Given the description of an element on the screen output the (x, y) to click on. 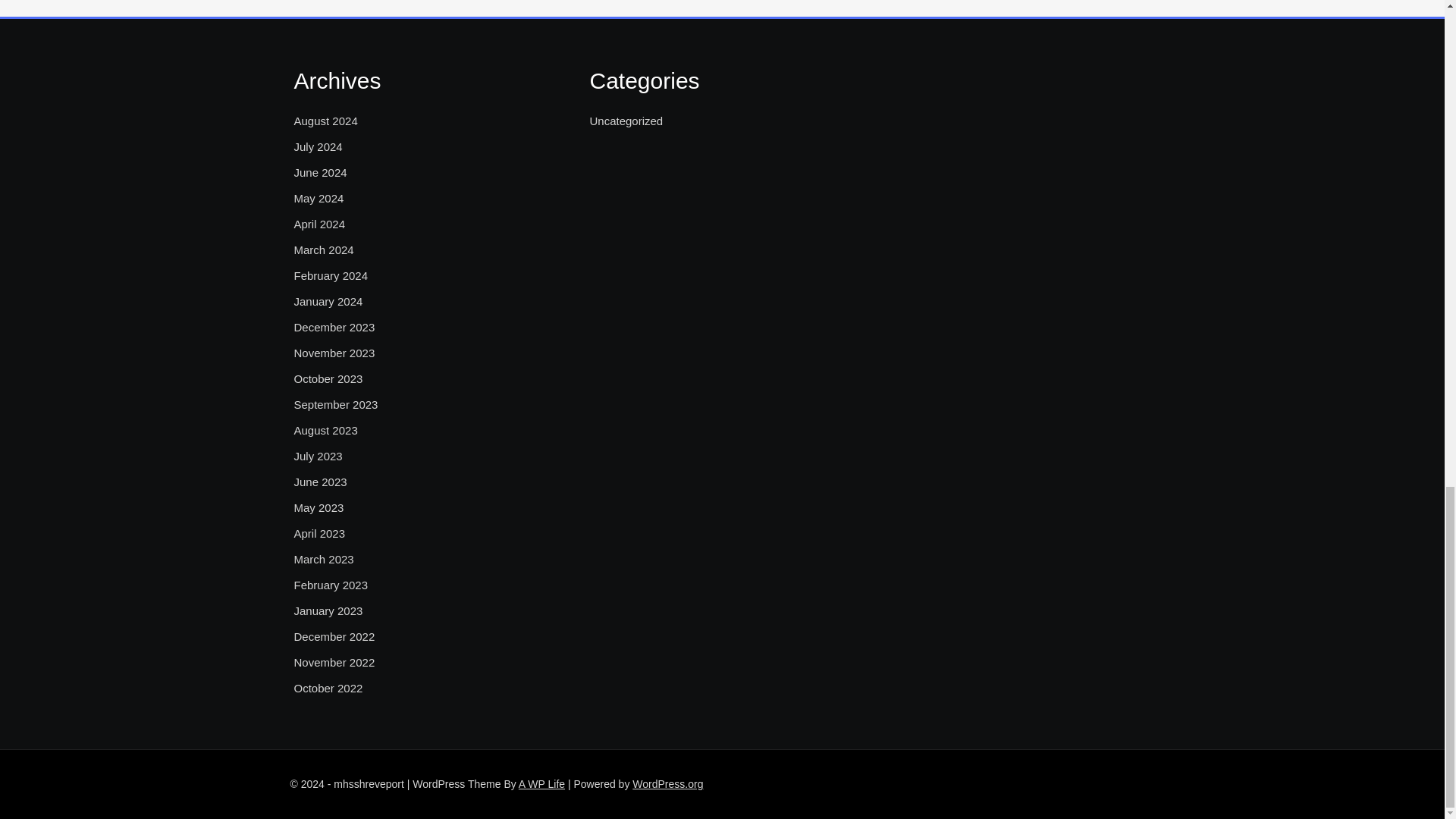
May 2024 (318, 198)
April 2024 (320, 224)
January 2024 (328, 301)
July 2024 (318, 147)
July 2023 (318, 456)
December 2023 (334, 327)
November 2023 (334, 352)
June 2024 (320, 172)
August 2023 (326, 430)
February 2024 (331, 275)
March 2024 (323, 249)
August 2024 (326, 121)
June 2023 (320, 482)
September 2023 (336, 404)
October 2023 (328, 379)
